Given the description of an element on the screen output the (x, y) to click on. 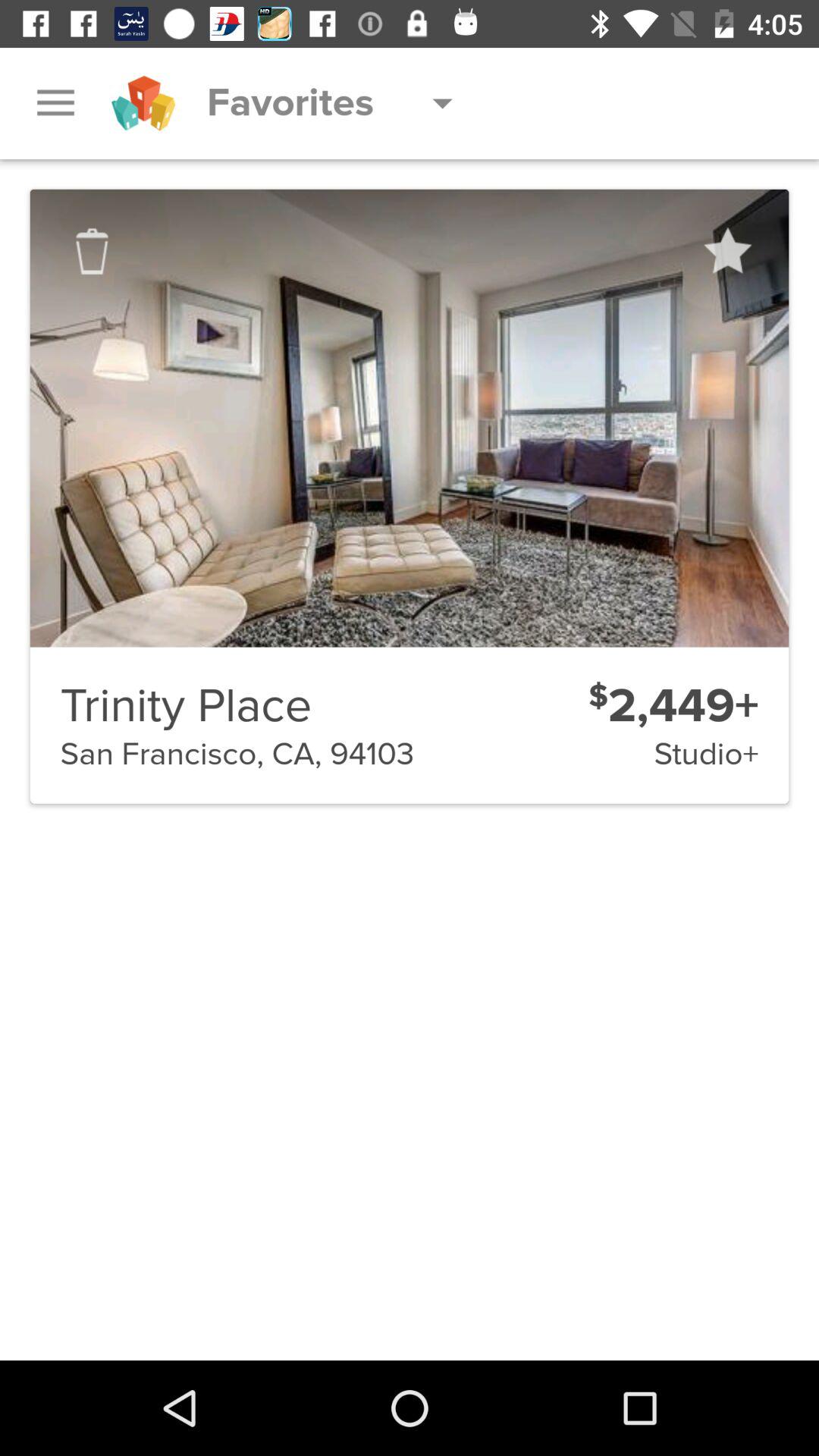
delete (92, 251)
